Given the description of an element on the screen output the (x, y) to click on. 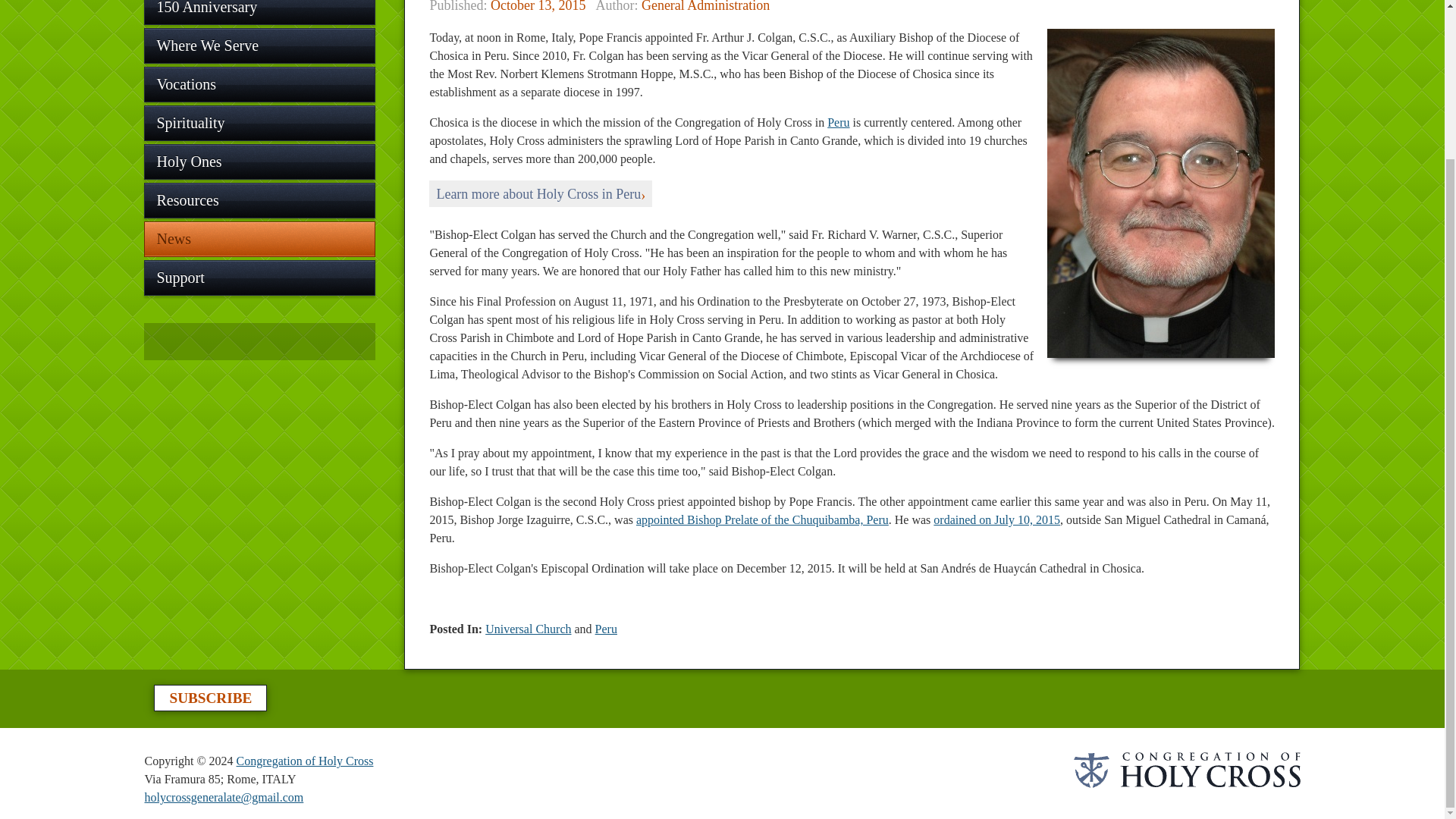
Spirituality (259, 122)
Universal Church (527, 628)
Holy Ones (259, 161)
150 Anniversary (259, 12)
Congregation of Holy Cross (304, 760)
News (259, 239)
appointed Bishop Prelate of the Chuquibamba, Peru (762, 519)
Peru (606, 628)
Instagram (230, 341)
Support (259, 277)
